Given the description of an element on the screen output the (x, y) to click on. 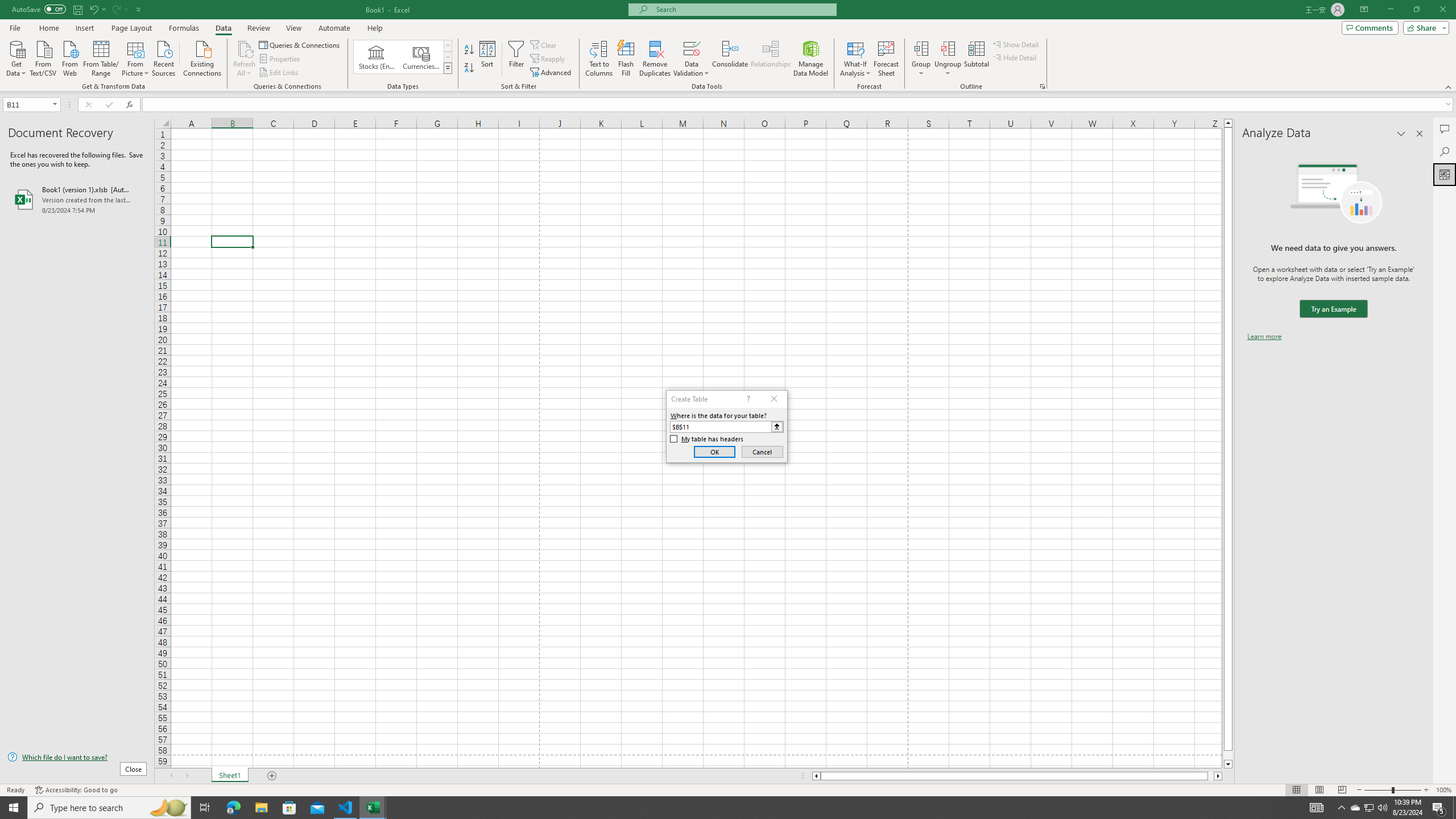
Text to Columns... (598, 58)
Microsoft search (742, 9)
Sort Z to A (469, 67)
Page right (1211, 775)
Ungroup... (947, 48)
Row Down (448, 56)
Data Validation... (691, 58)
AutoSave (38, 9)
Group... (921, 48)
Task Pane Options (1400, 133)
